Given the description of an element on the screen output the (x, y) to click on. 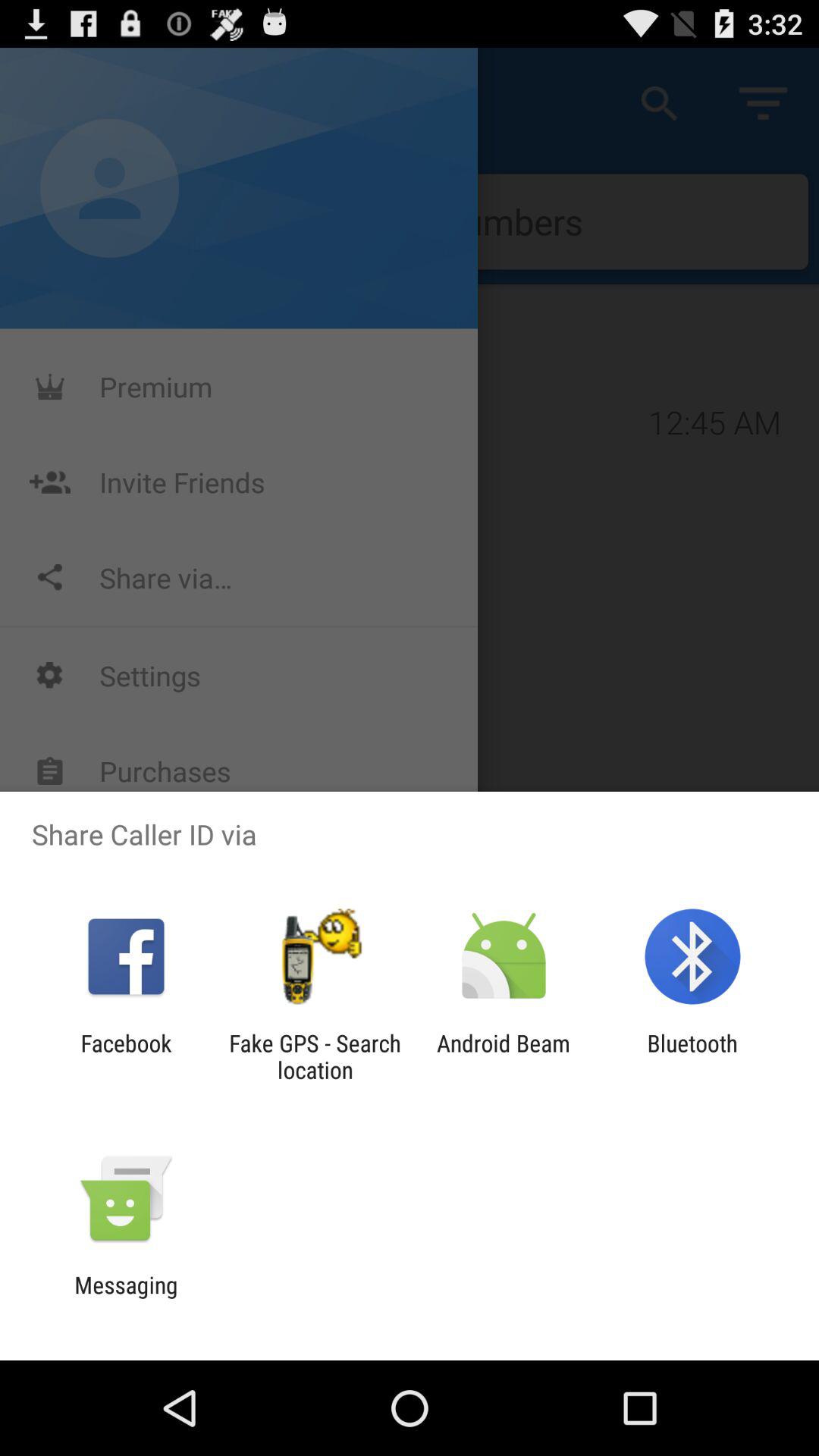
tap bluetooth item (692, 1056)
